Given the description of an element on the screen output the (x, y) to click on. 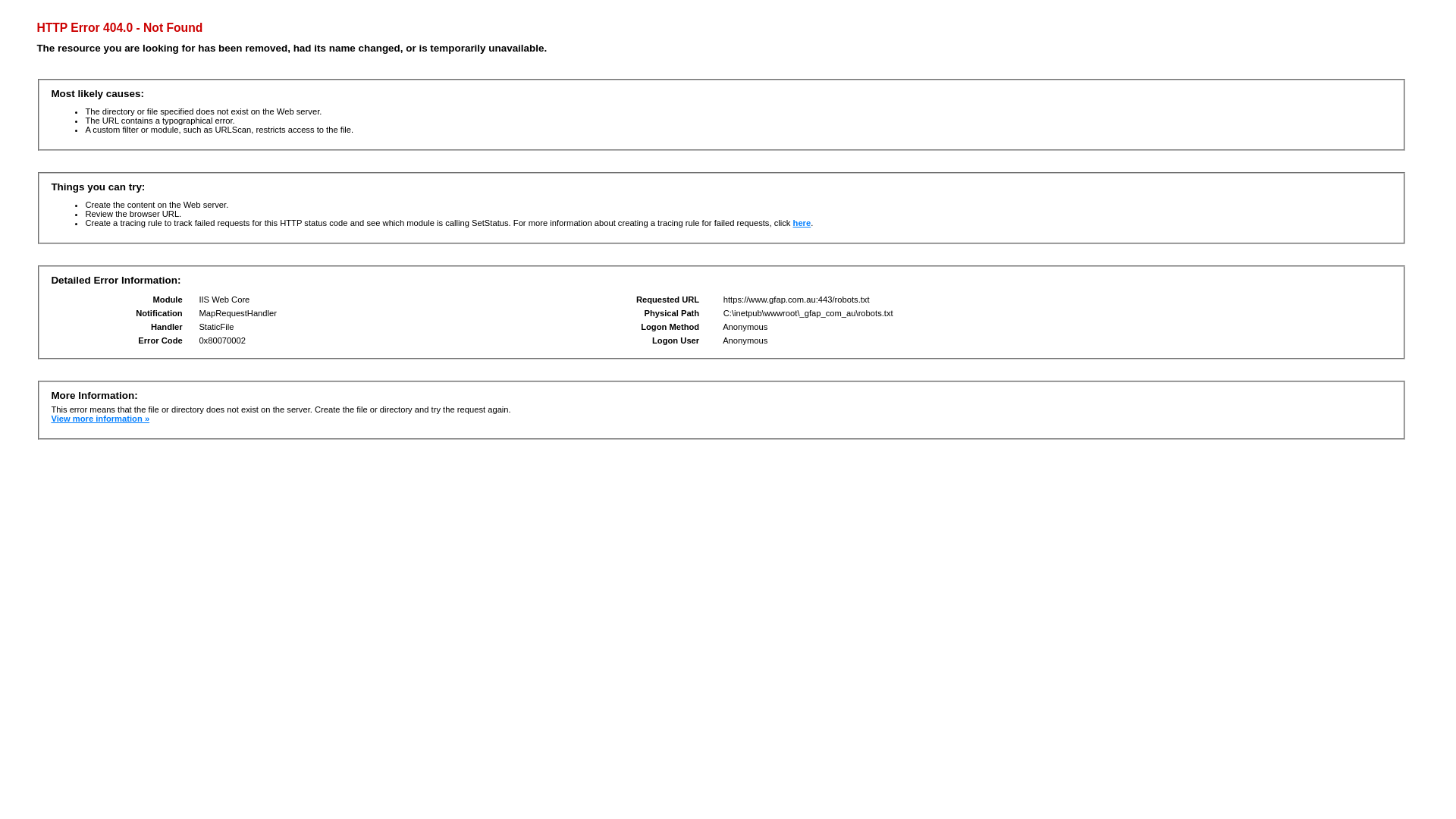
here Element type: text (802, 222)
